Given the description of an element on the screen output the (x, y) to click on. 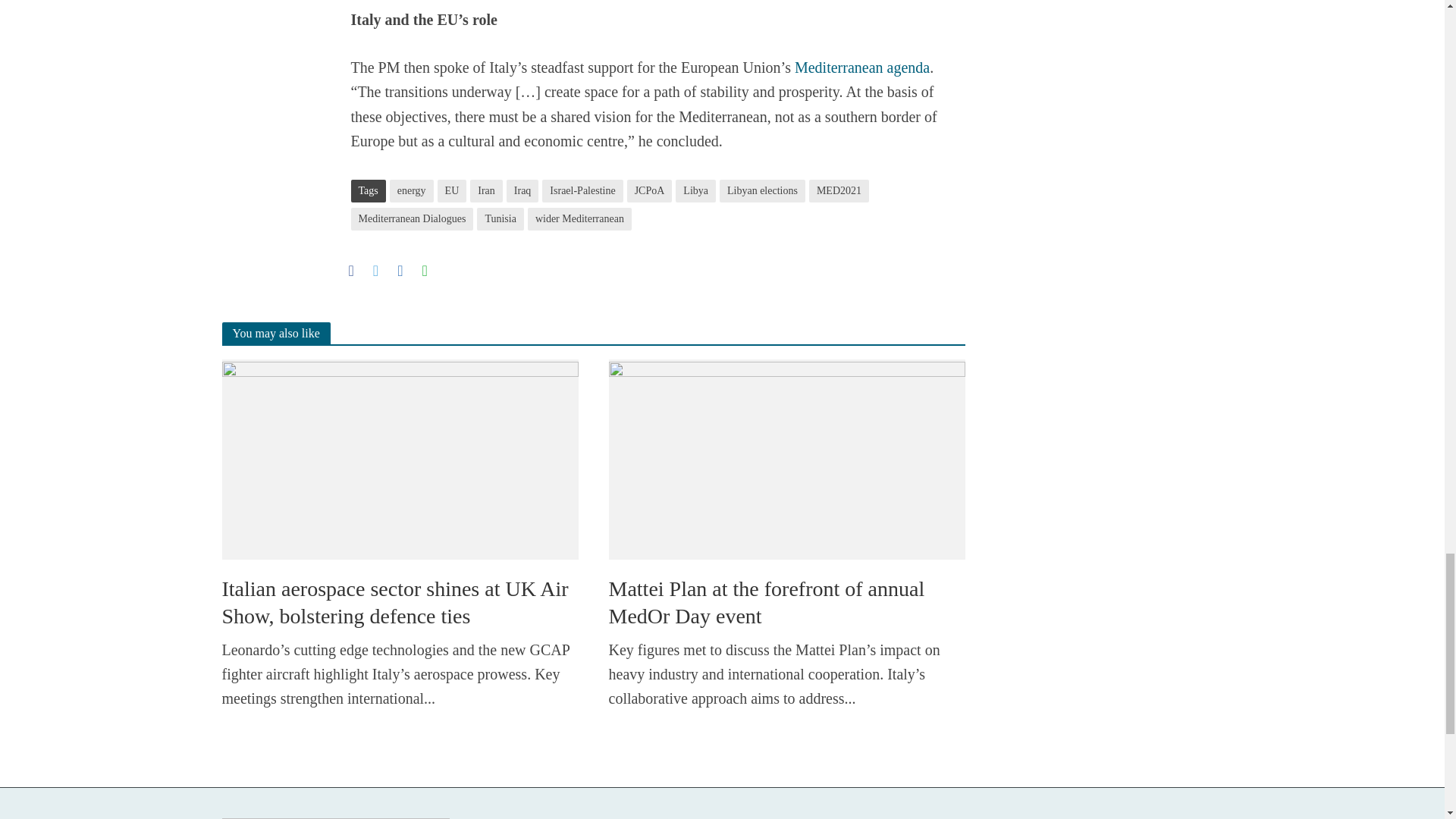
Mediterranean agenda (862, 68)
energy (411, 190)
Mattei Plan at the forefront of annual MedOr Day event (785, 457)
EU (452, 190)
